Given the description of an element on the screen output the (x, y) to click on. 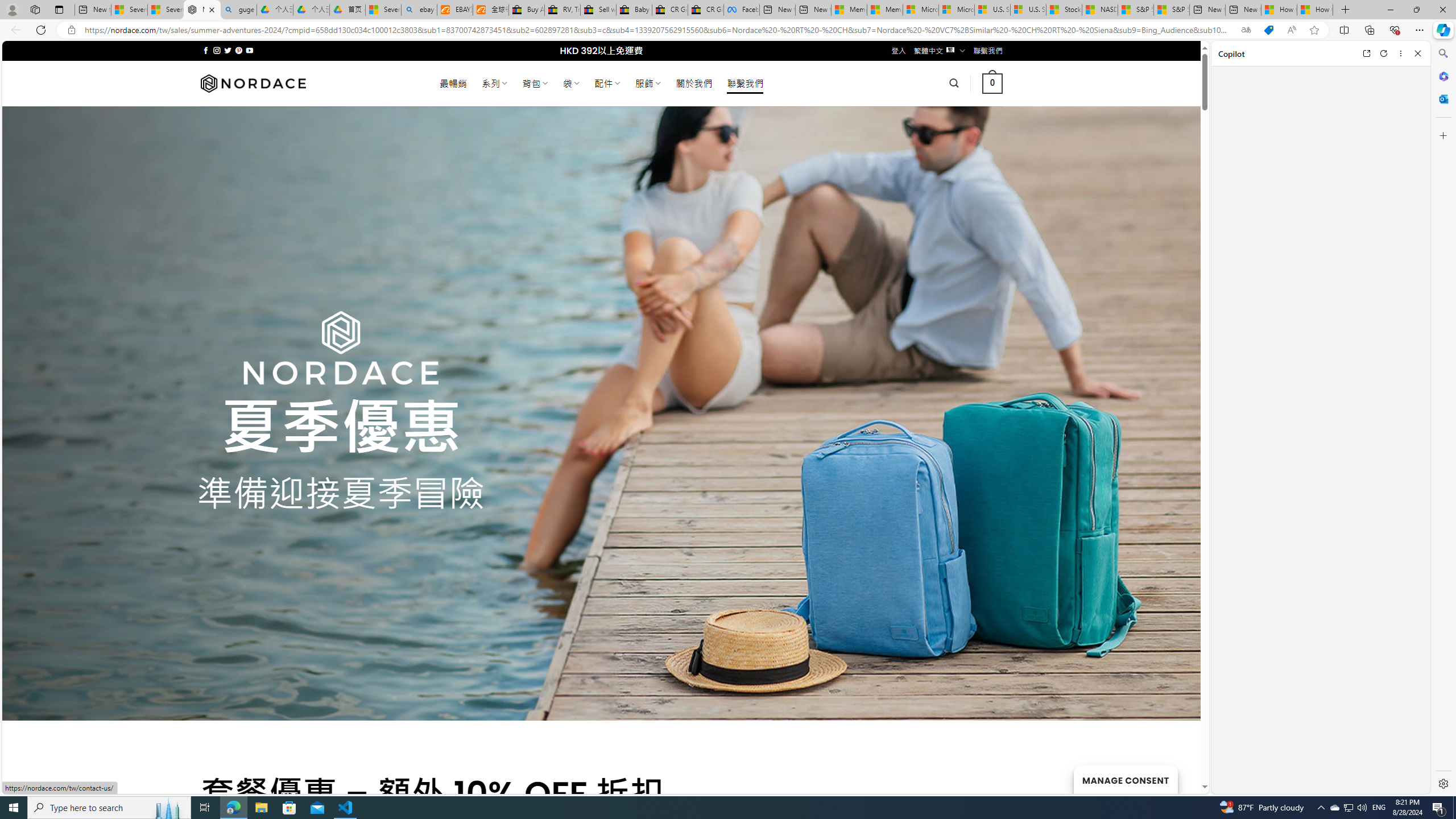
Customize (1442, 135)
 0  (992, 83)
guge yunpan - Search (238, 9)
